Given the description of an element on the screen output the (x, y) to click on. 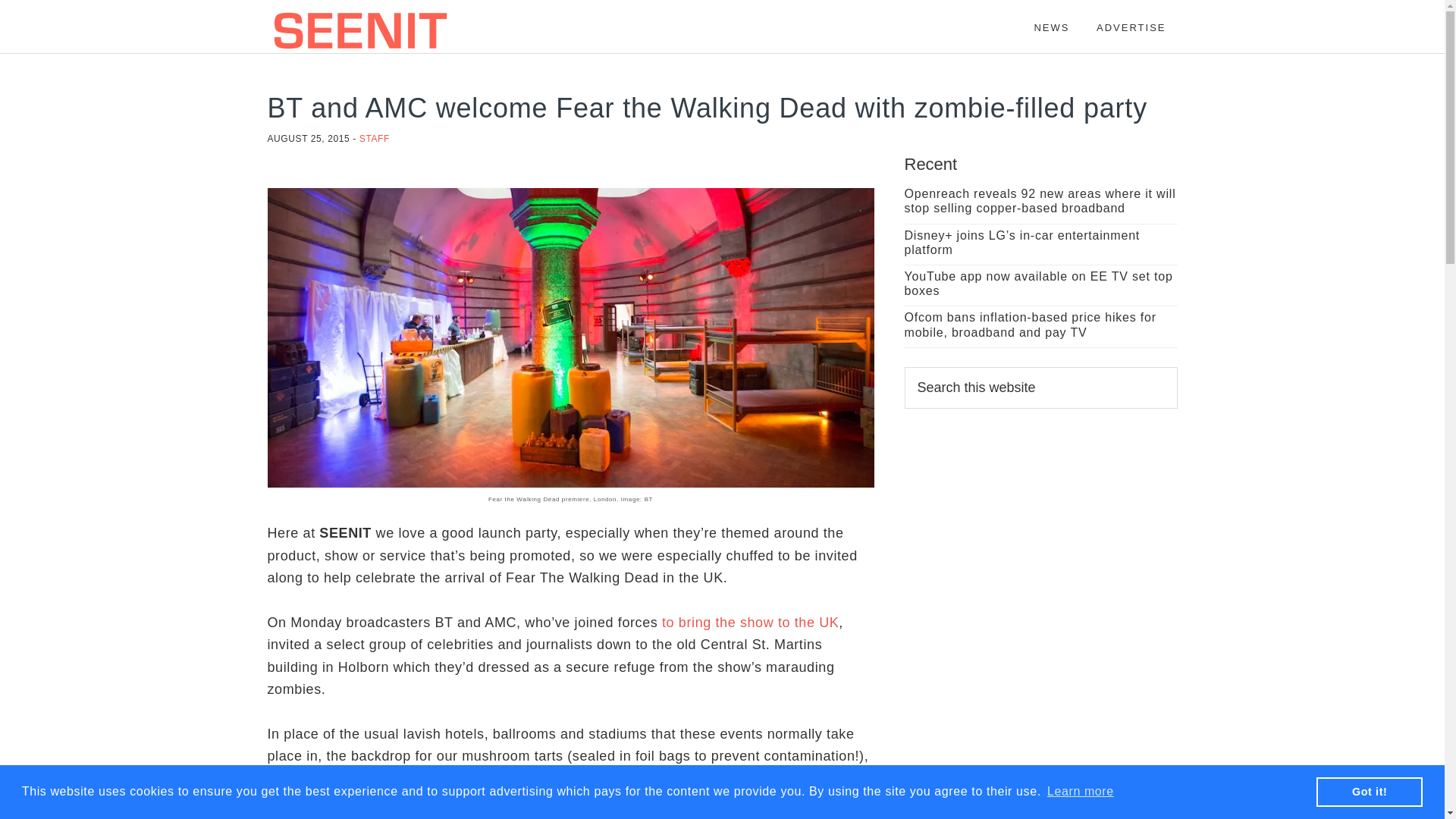
Learn more (1080, 791)
YouTube app now available on EE TV set top boxes (1038, 283)
NEWS (1051, 20)
STAFF (374, 138)
ADVERTISE (1130, 20)
to bring the show to the UK (750, 622)
SEENIT (403, 30)
Got it! (1369, 791)
